Given the description of an element on the screen output the (x, y) to click on. 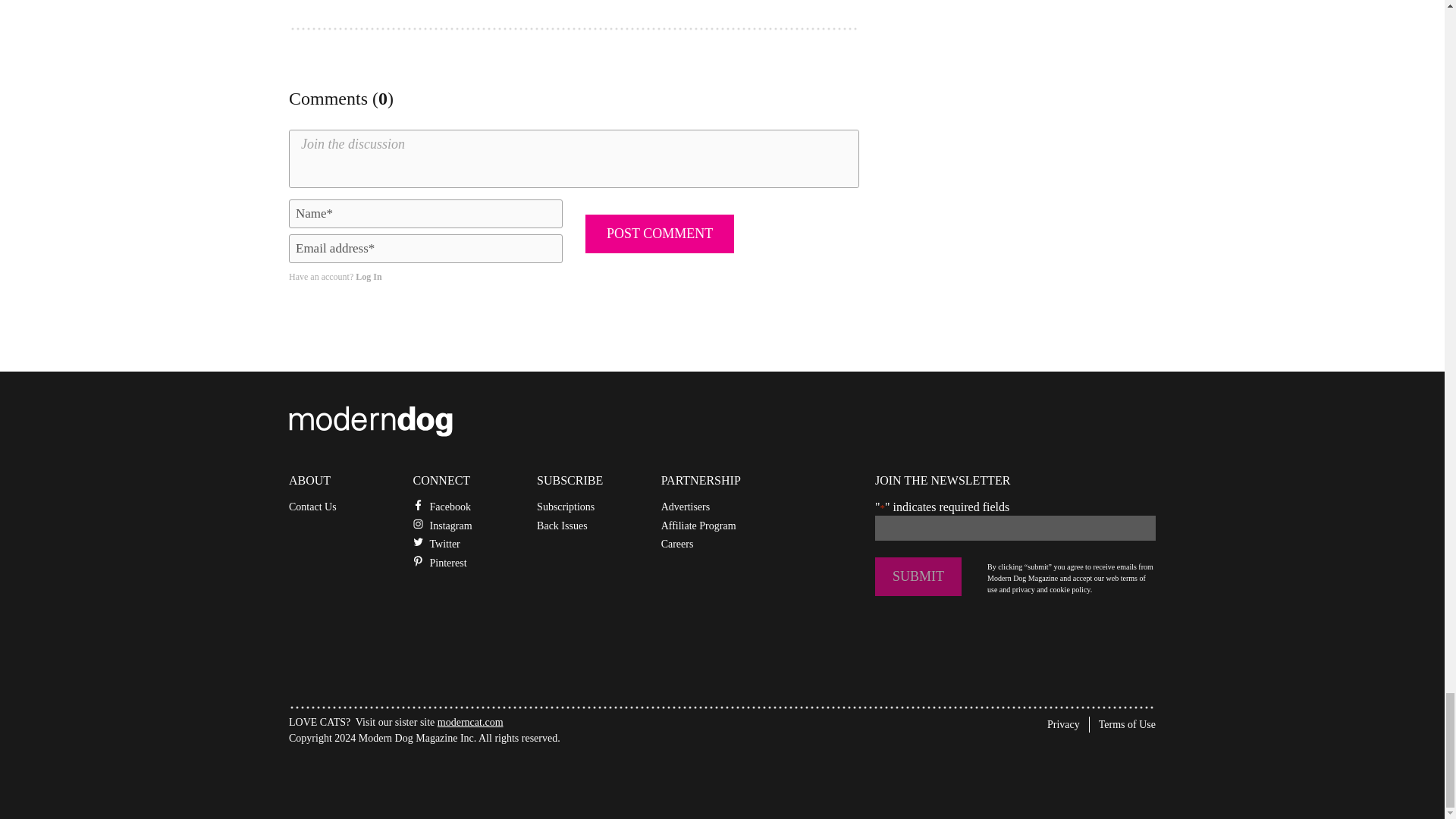
Funded by the Government of Canada (402, 775)
Submit (917, 576)
